Given the description of an element on the screen output the (x, y) to click on. 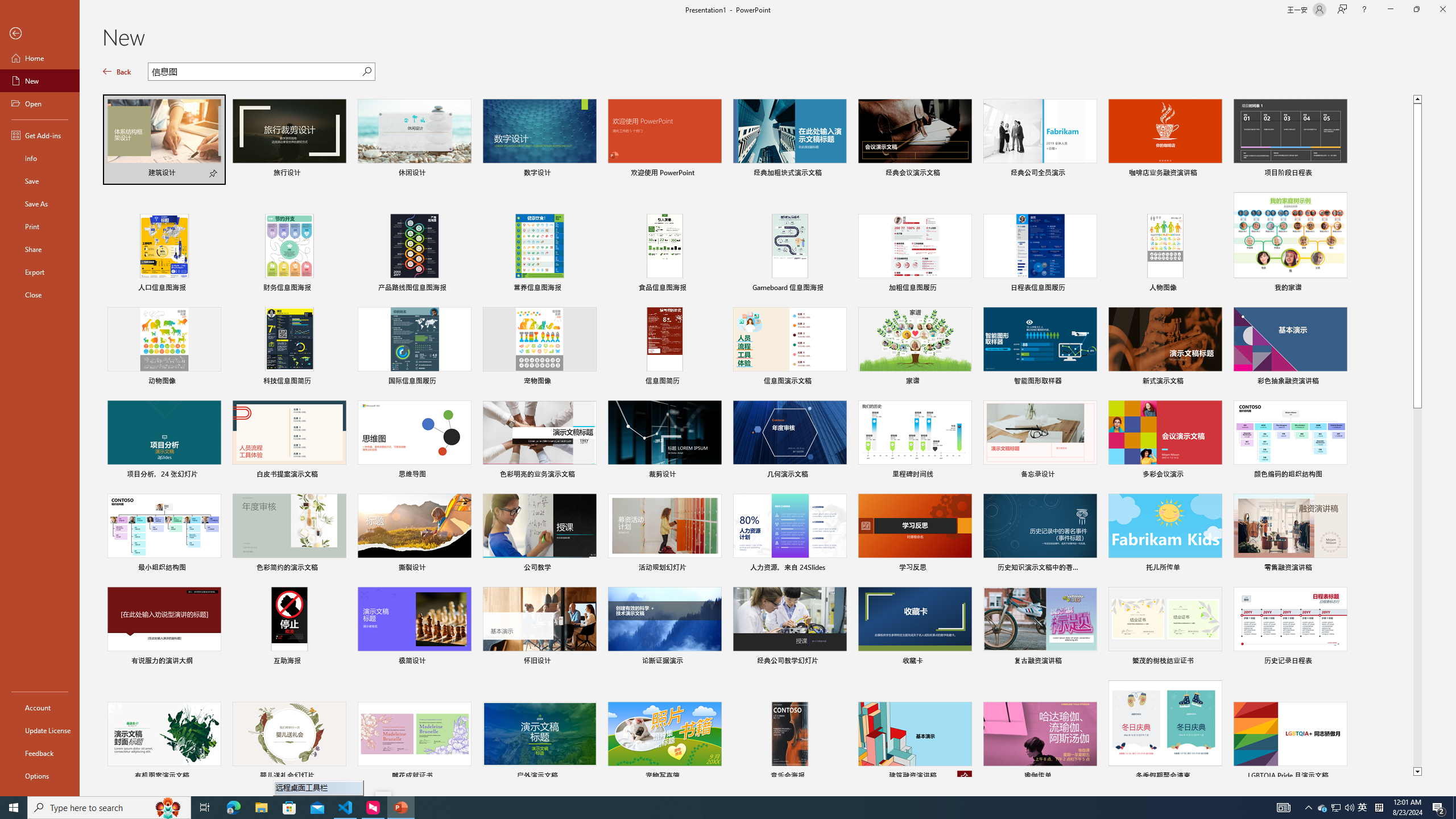
Back (40, 33)
Save As (40, 203)
Pin to list (1339, 776)
